Given the description of an element on the screen output the (x, y) to click on. 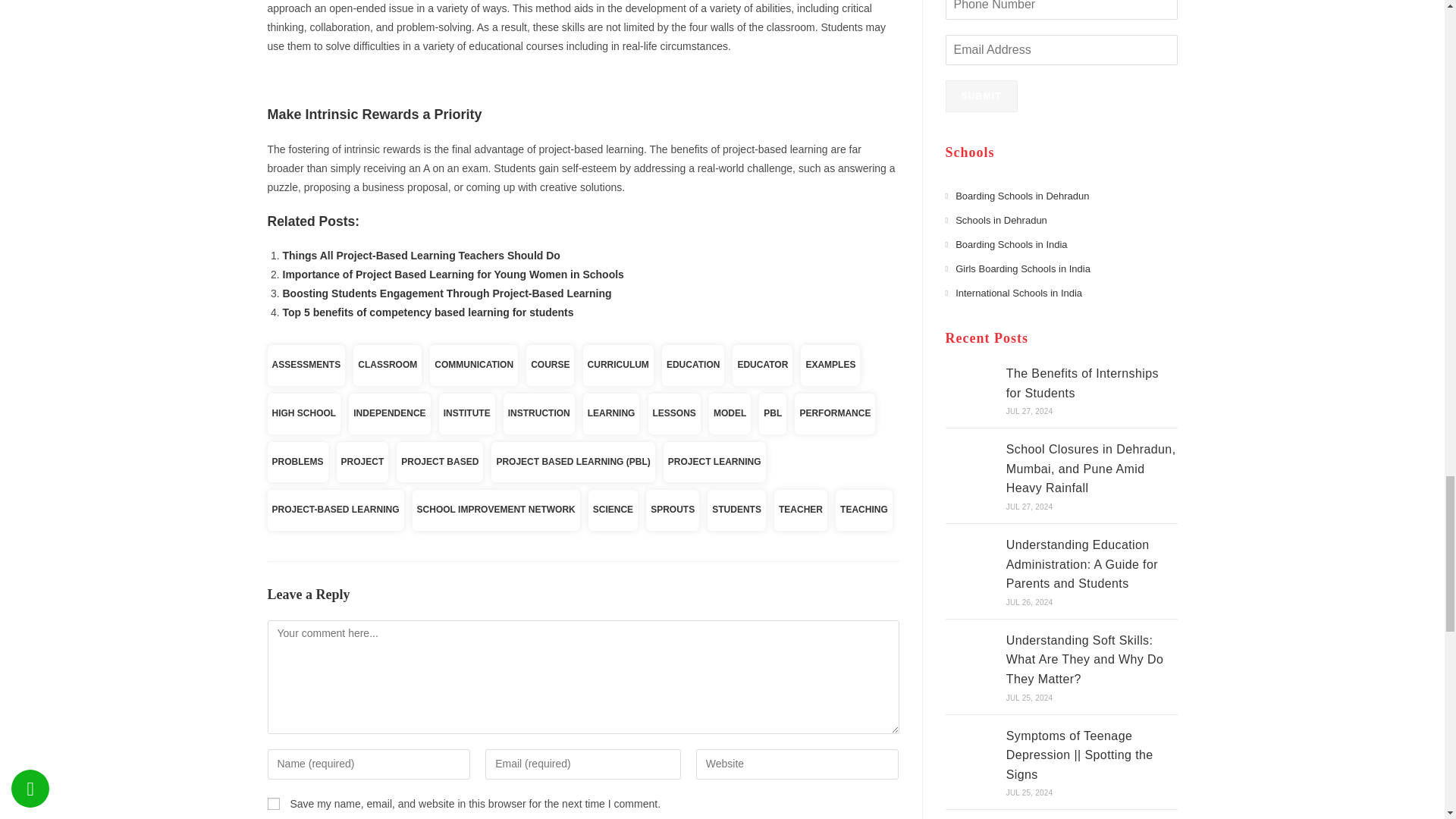
Boosting Students Engagement Through Project-Based Learning (446, 293)
HIGH SCHOOL (303, 413)
COURSE (549, 364)
EDUCATOR (762, 364)
INDEPENDENCE (389, 413)
Top 5 benefits of competency based learning for students (427, 312)
INSTITUTE (467, 413)
Top 5 benefits of competency based learning for students (427, 312)
EDUCATION (692, 364)
CLASSROOM (387, 364)
CURRICULUM (618, 364)
yes (272, 803)
Things All Project-Based Learning Teachers Should Do (420, 255)
